Given the description of an element on the screen output the (x, y) to click on. 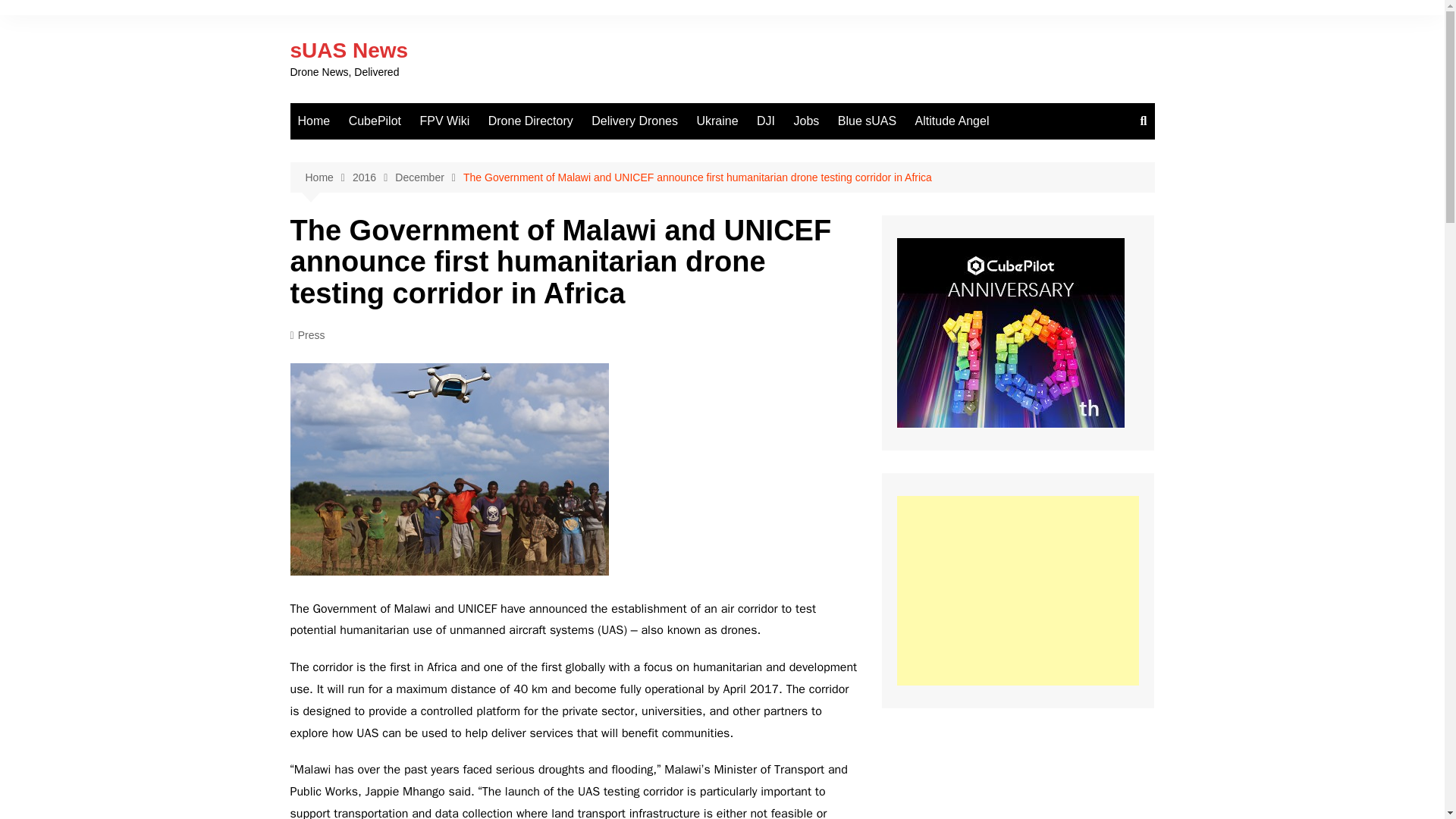
CubePilot (374, 121)
Home (328, 177)
Blue sUAS (866, 121)
FPV Wiki (444, 121)
sUAS News (348, 50)
DJI (766, 121)
Delivery Drones (634, 121)
Jobs (806, 121)
Home (313, 121)
